Given the description of an element on the screen output the (x, y) to click on. 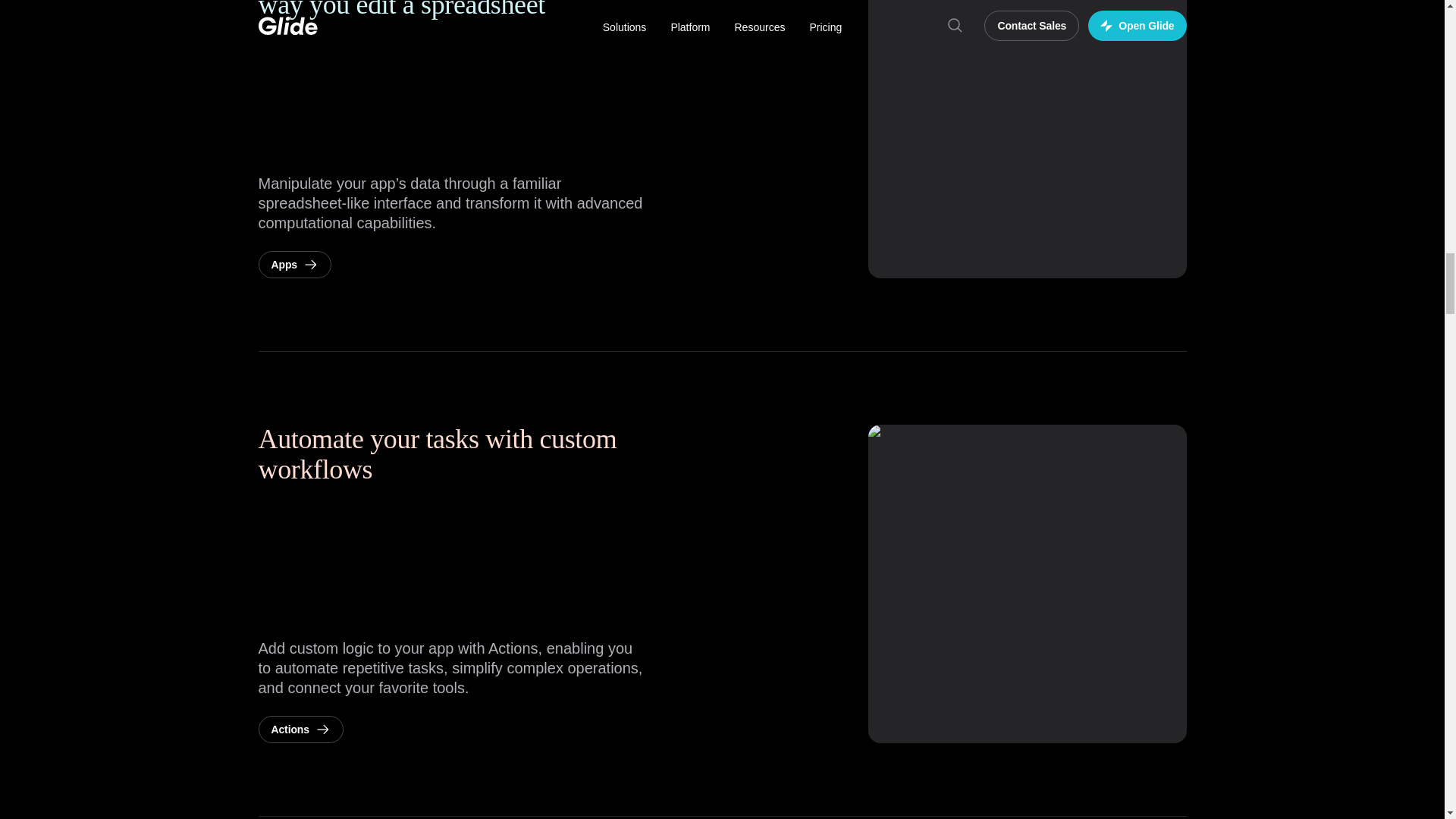
Actions (299, 728)
Apps (293, 264)
